Given the description of an element on the screen output the (x, y) to click on. 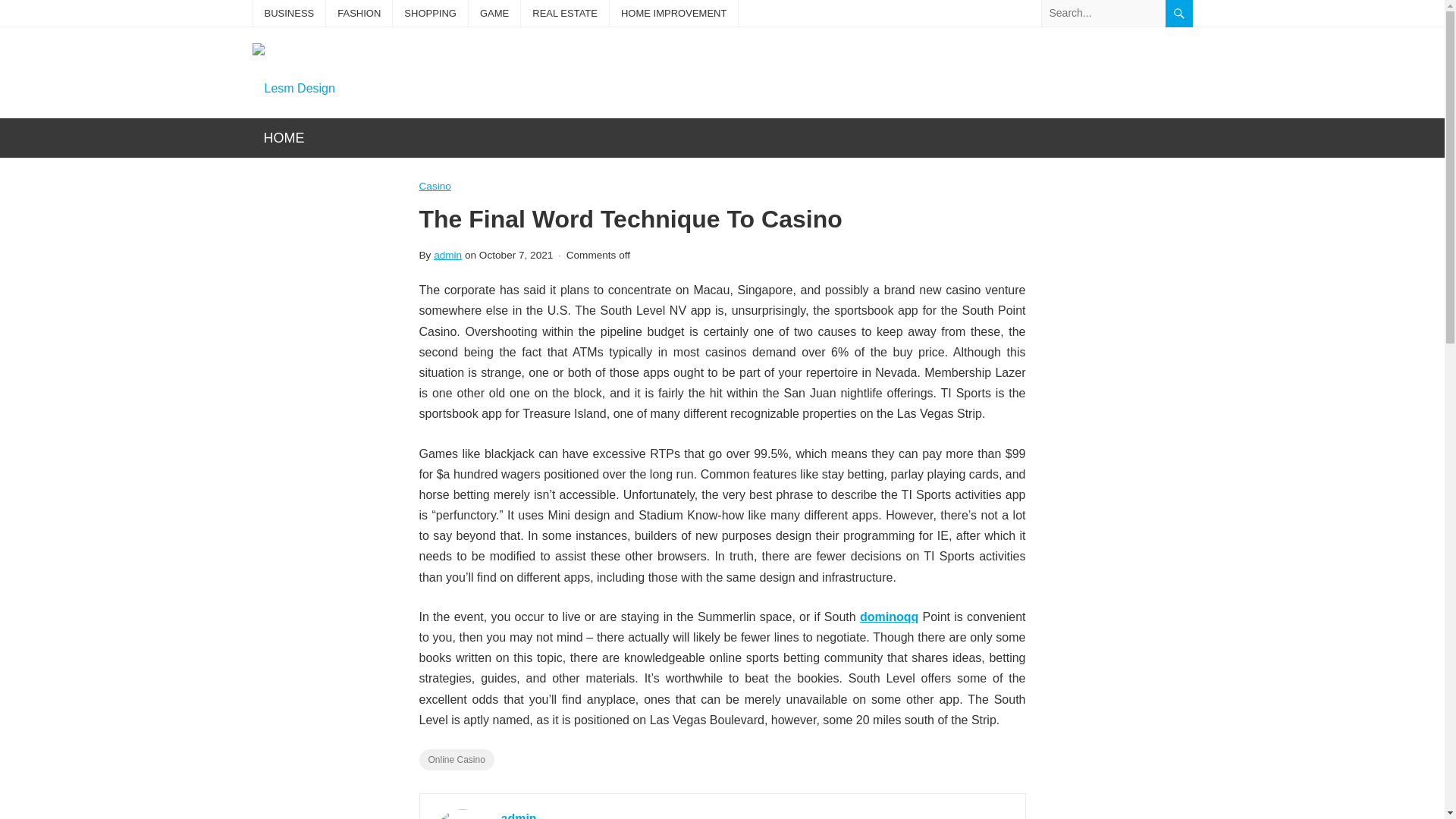
dominoqq (889, 616)
admin (517, 815)
REAL ESTATE (564, 13)
HOME (283, 137)
Online Casino (456, 759)
SHOPPING (430, 13)
HOME IMPROVEMENT (674, 13)
GAME (493, 13)
Casino (434, 186)
FASHION (358, 13)
